Given the description of an element on the screen output the (x, y) to click on. 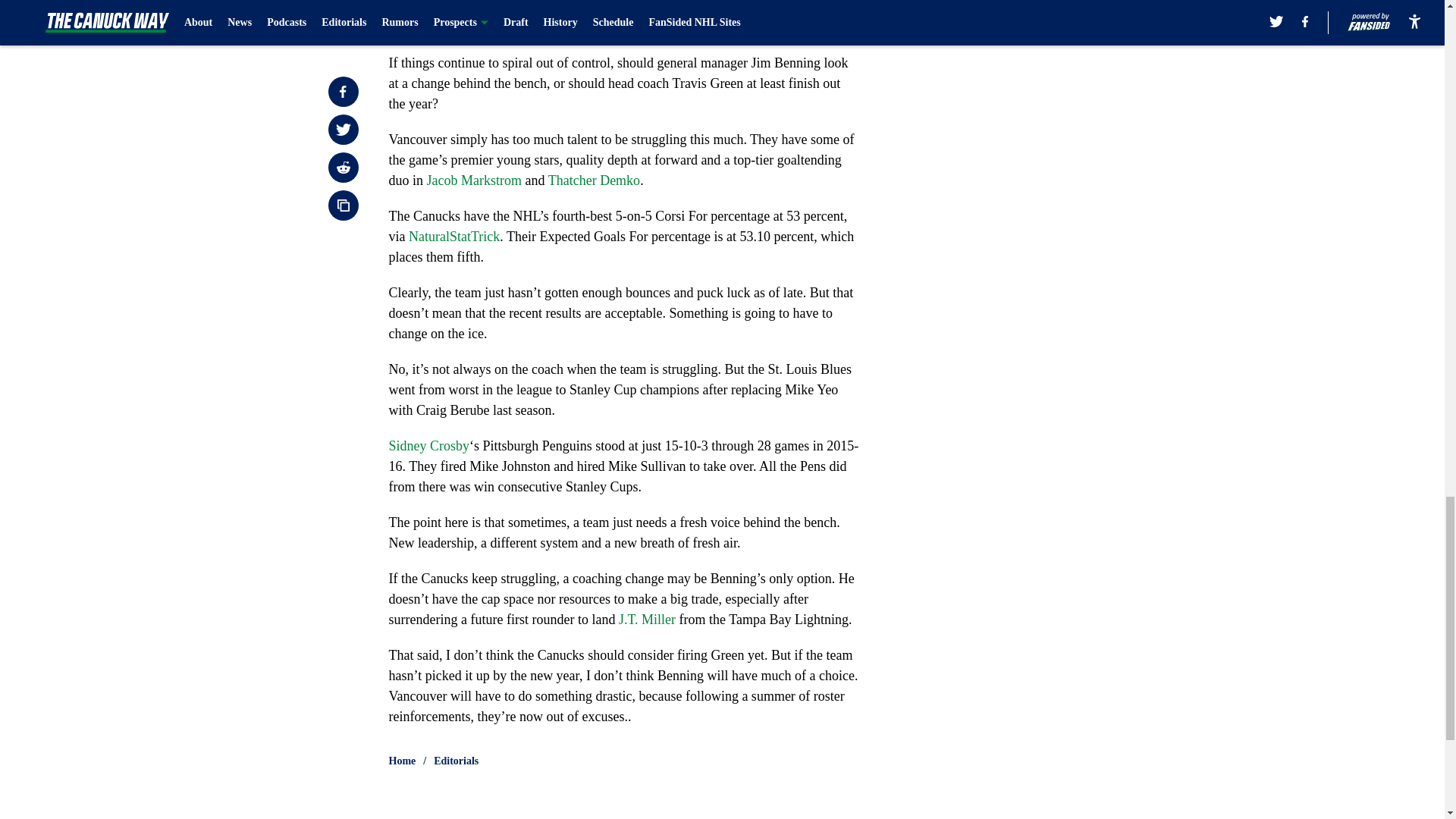
Jacob Markstrom (473, 180)
Home (401, 761)
Thatcher Demko (594, 180)
J.T. Miller (646, 619)
Editorials (456, 761)
Sidney Crosby (428, 445)
NaturalStatTrick (454, 236)
